Given the description of an element on the screen output the (x, y) to click on. 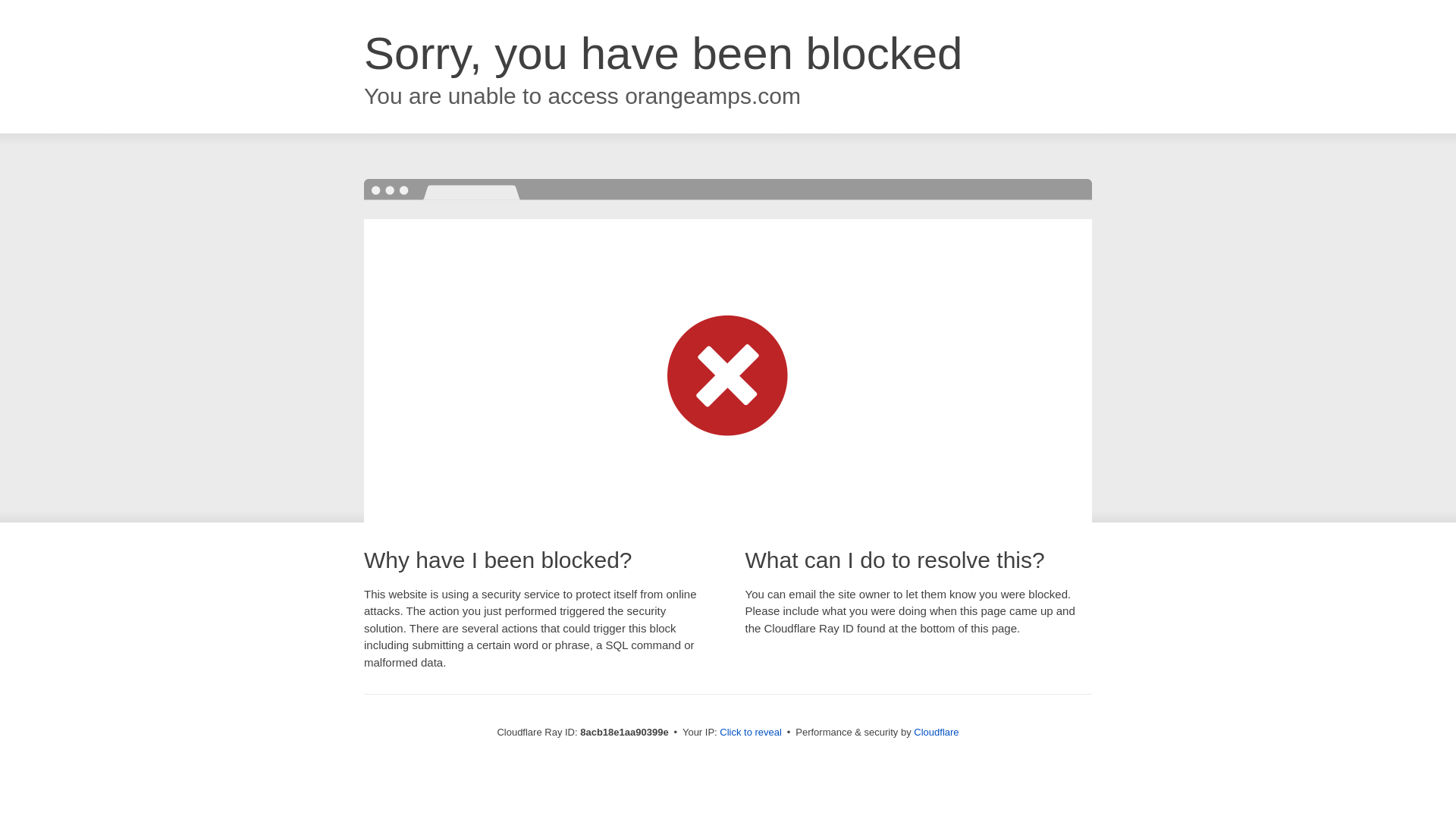
Cloudflare (936, 731)
Click to reveal (750, 732)
